Given the description of an element on the screen output the (x, y) to click on. 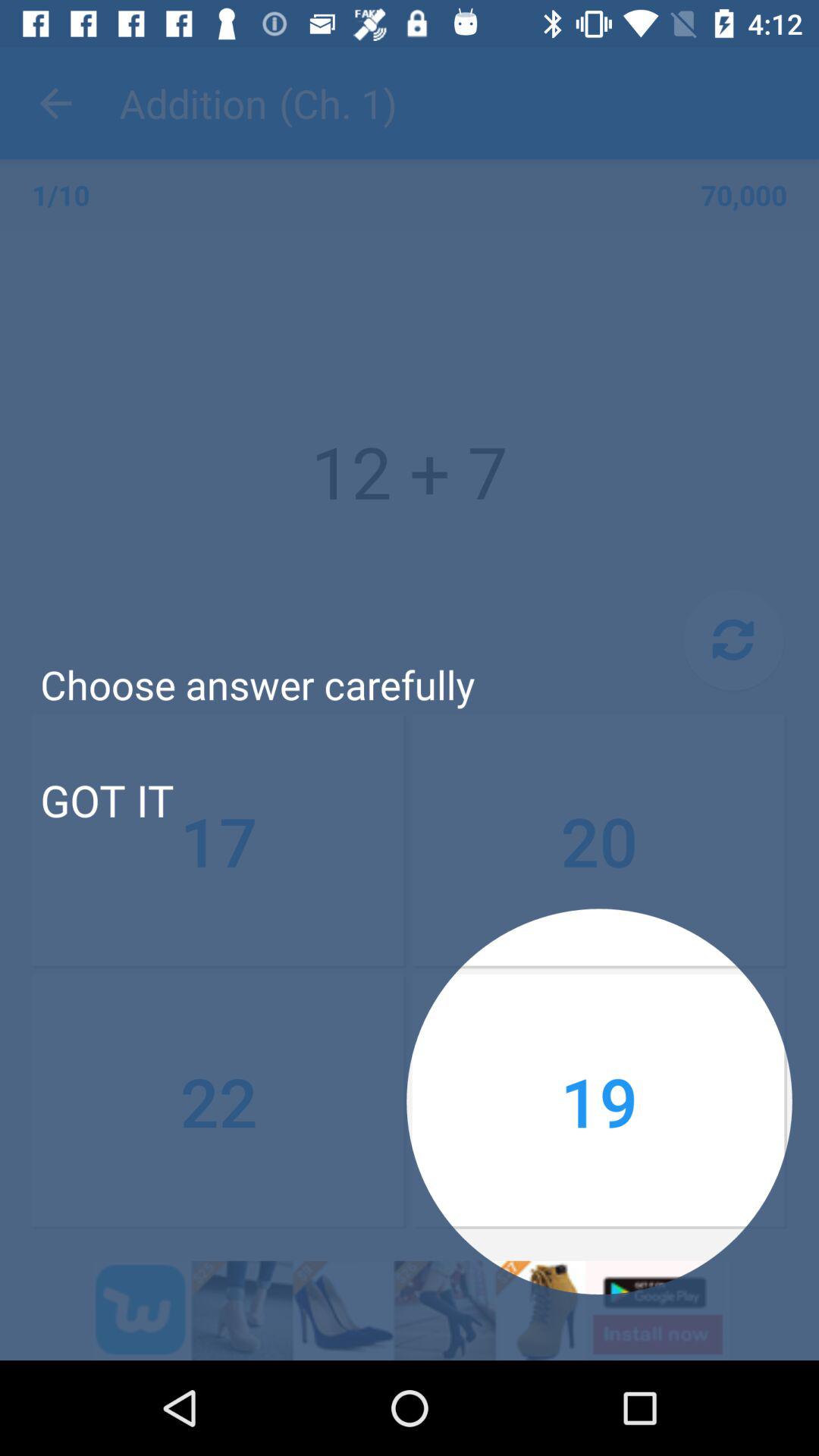
press item to the left of the addition (55, 103)
